Given the description of an element on the screen output the (x, y) to click on. 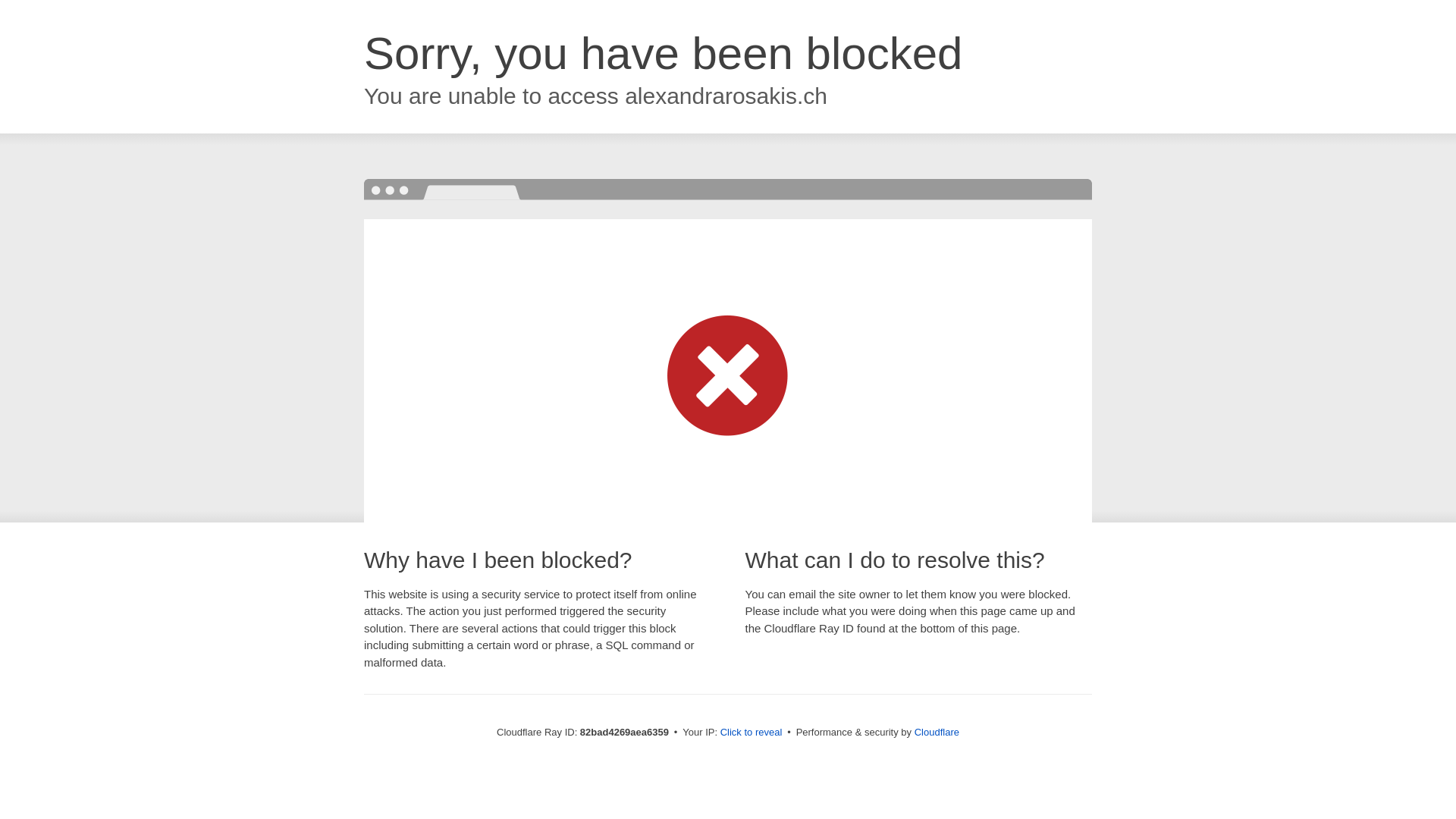
Cloudflare Element type: text (936, 731)
Click to reveal Element type: text (751, 732)
